Given the description of an element on the screen output the (x, y) to click on. 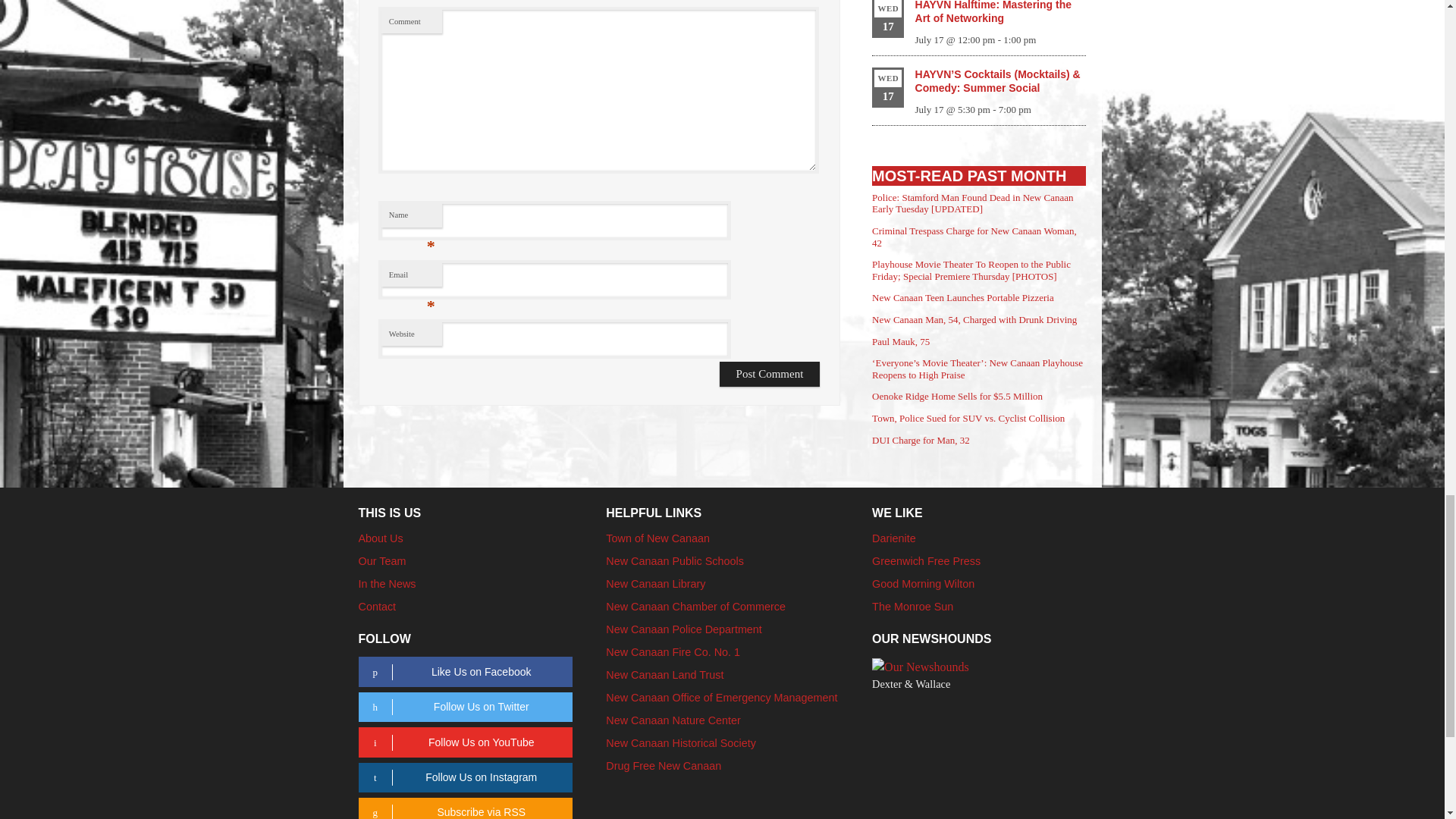
Post Comment (770, 373)
